Given the description of an element on the screen output the (x, y) to click on. 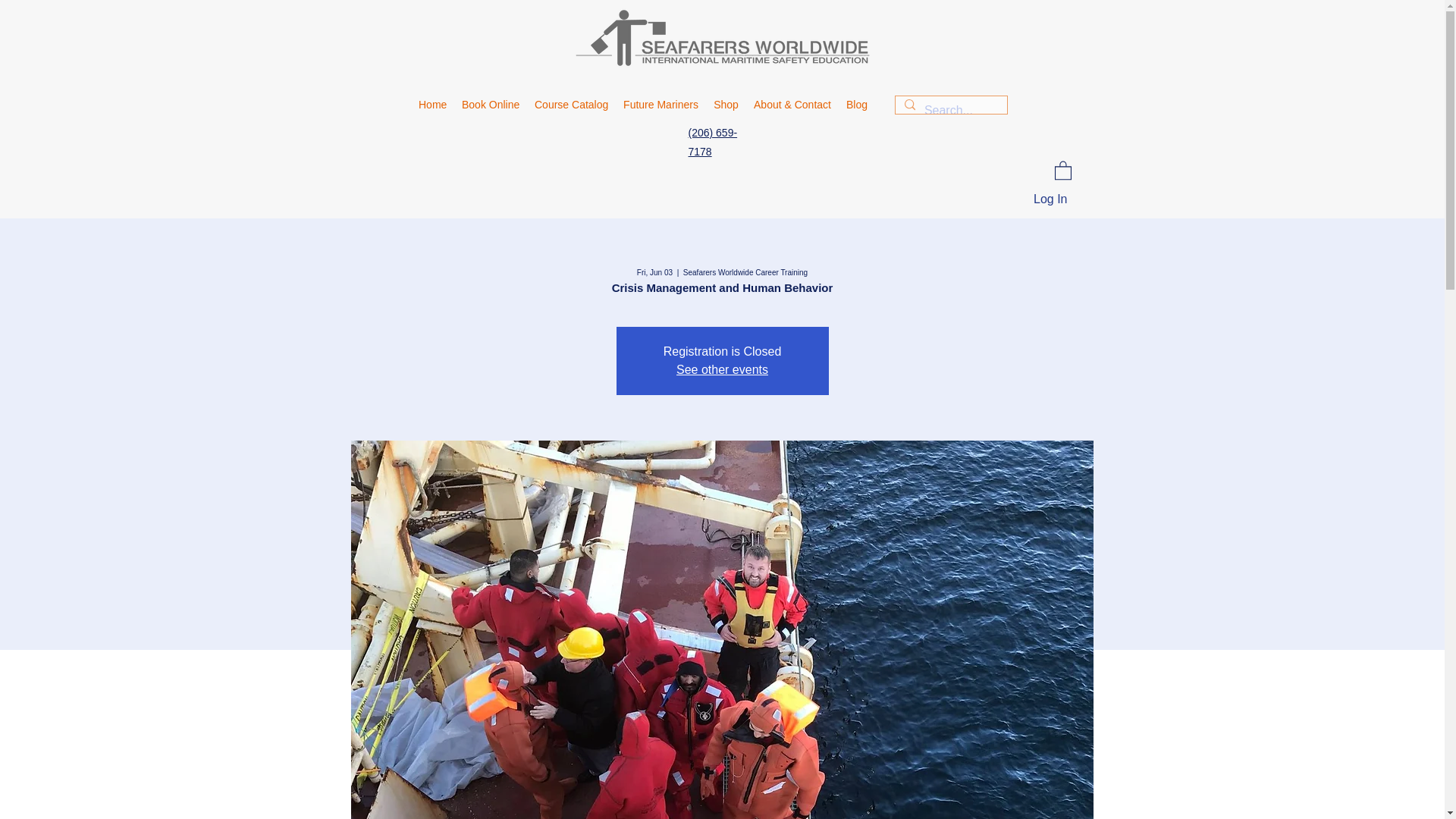
Home (432, 104)
Future Mariners (660, 104)
Course Catalog (571, 104)
Shop (725, 104)
Book Online (490, 104)
